Given the description of an element on the screen output the (x, y) to click on. 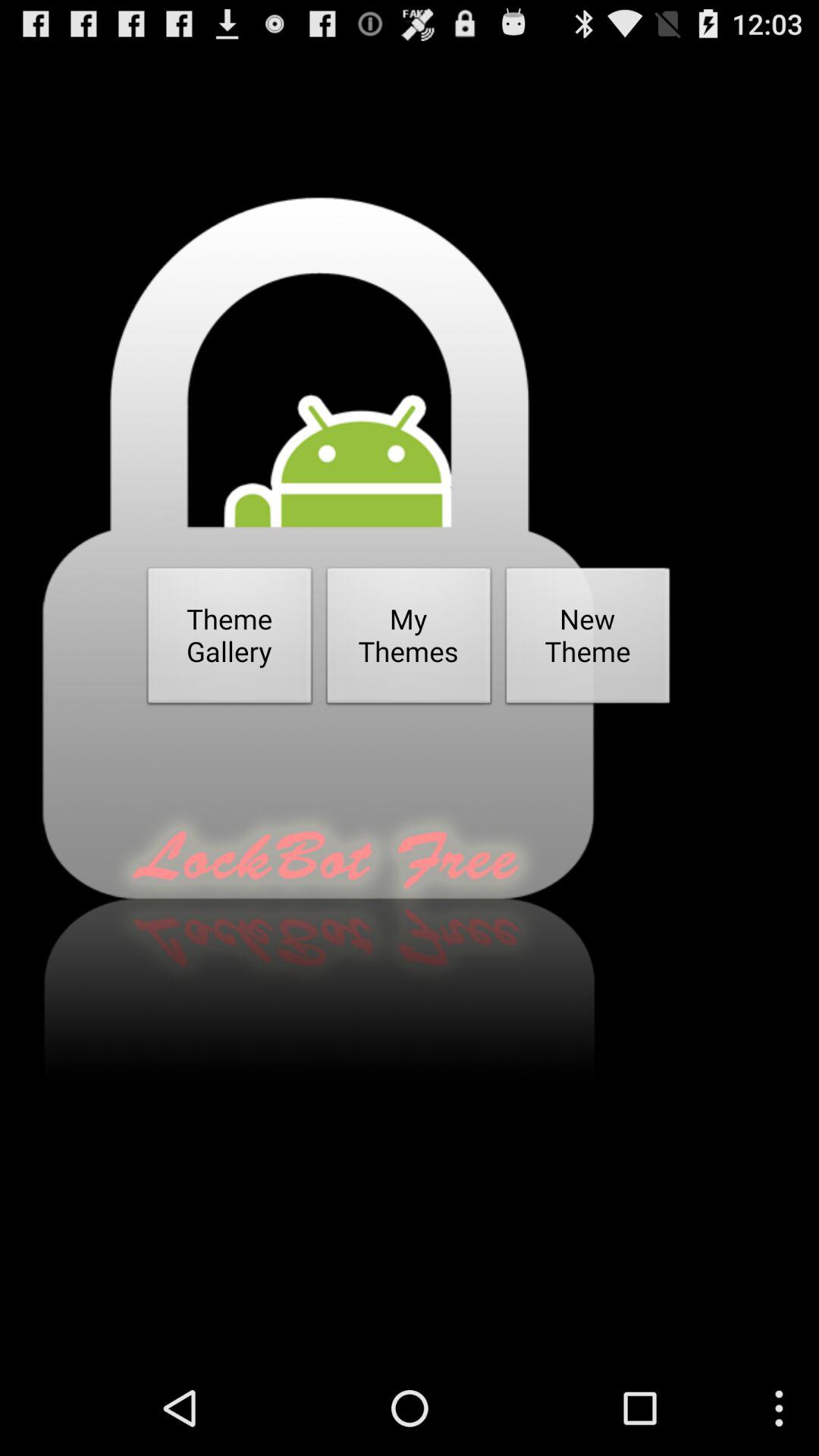
launch the my themes (408, 639)
